Given the description of an element on the screen output the (x, y) to click on. 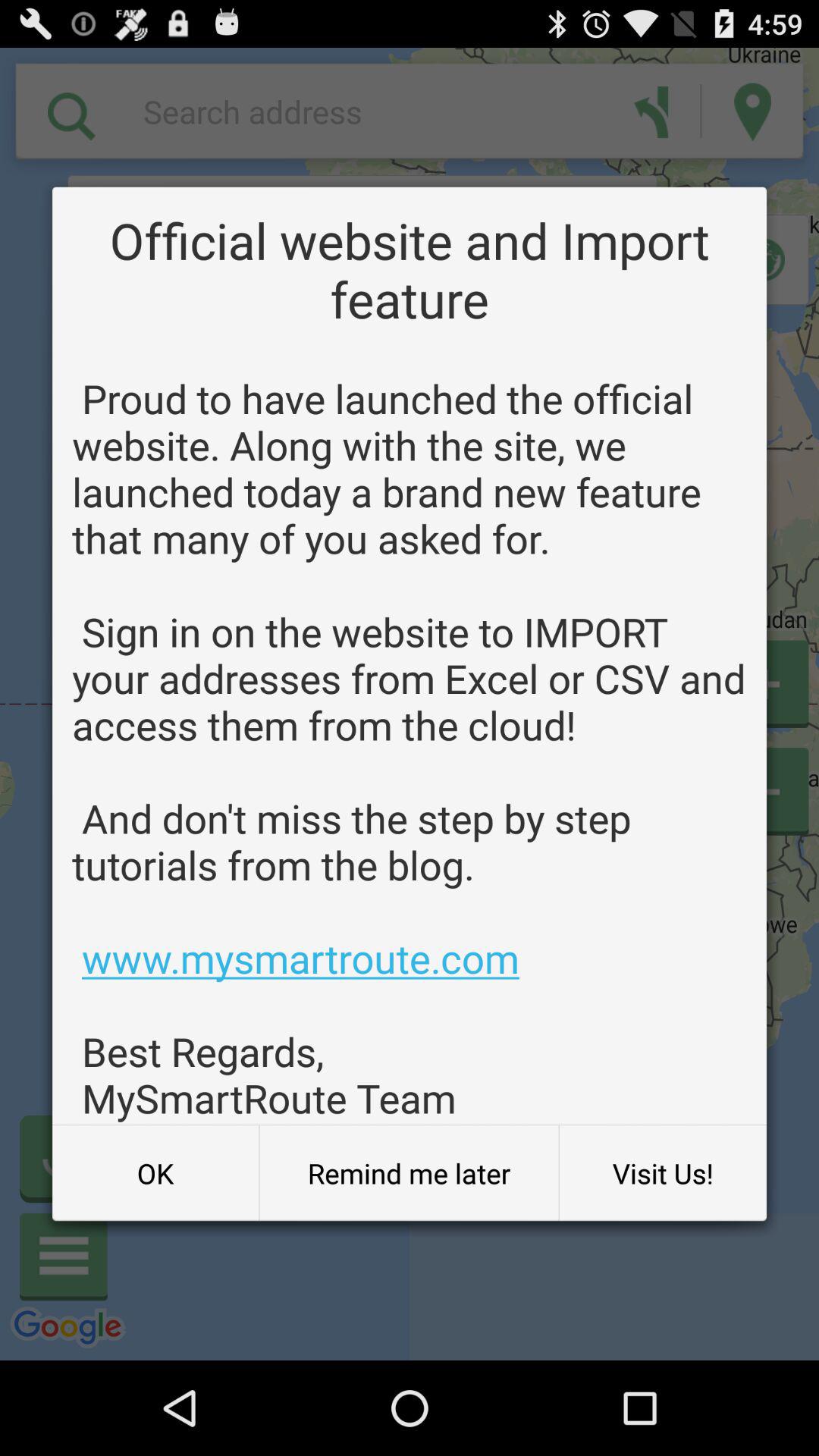
flip until remind me later button (408, 1173)
